Given the description of an element on the screen output the (x, y) to click on. 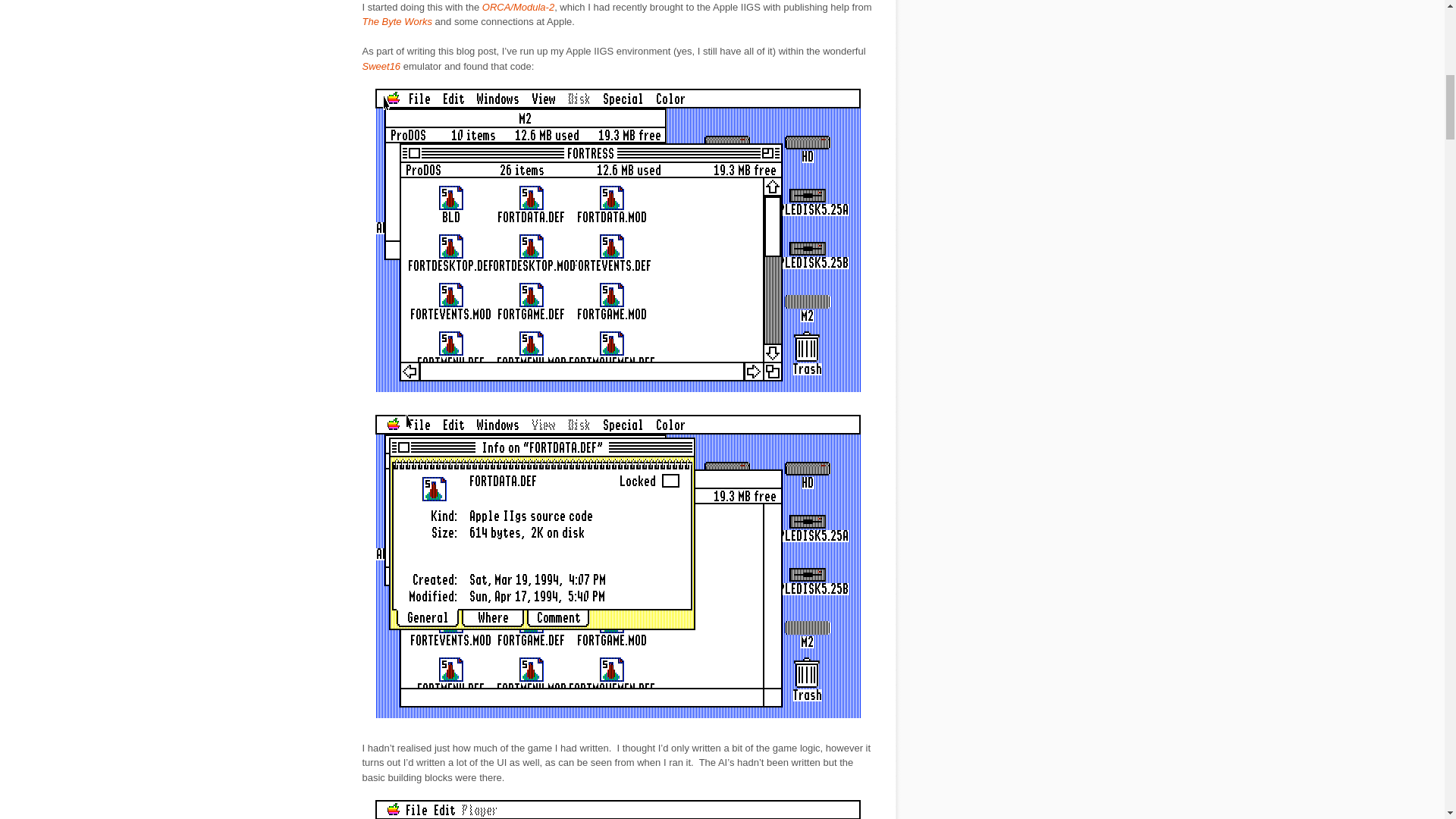
The Byte Works (397, 21)
Sweet16 (381, 66)
